Given the description of an element on the screen output the (x, y) to click on. 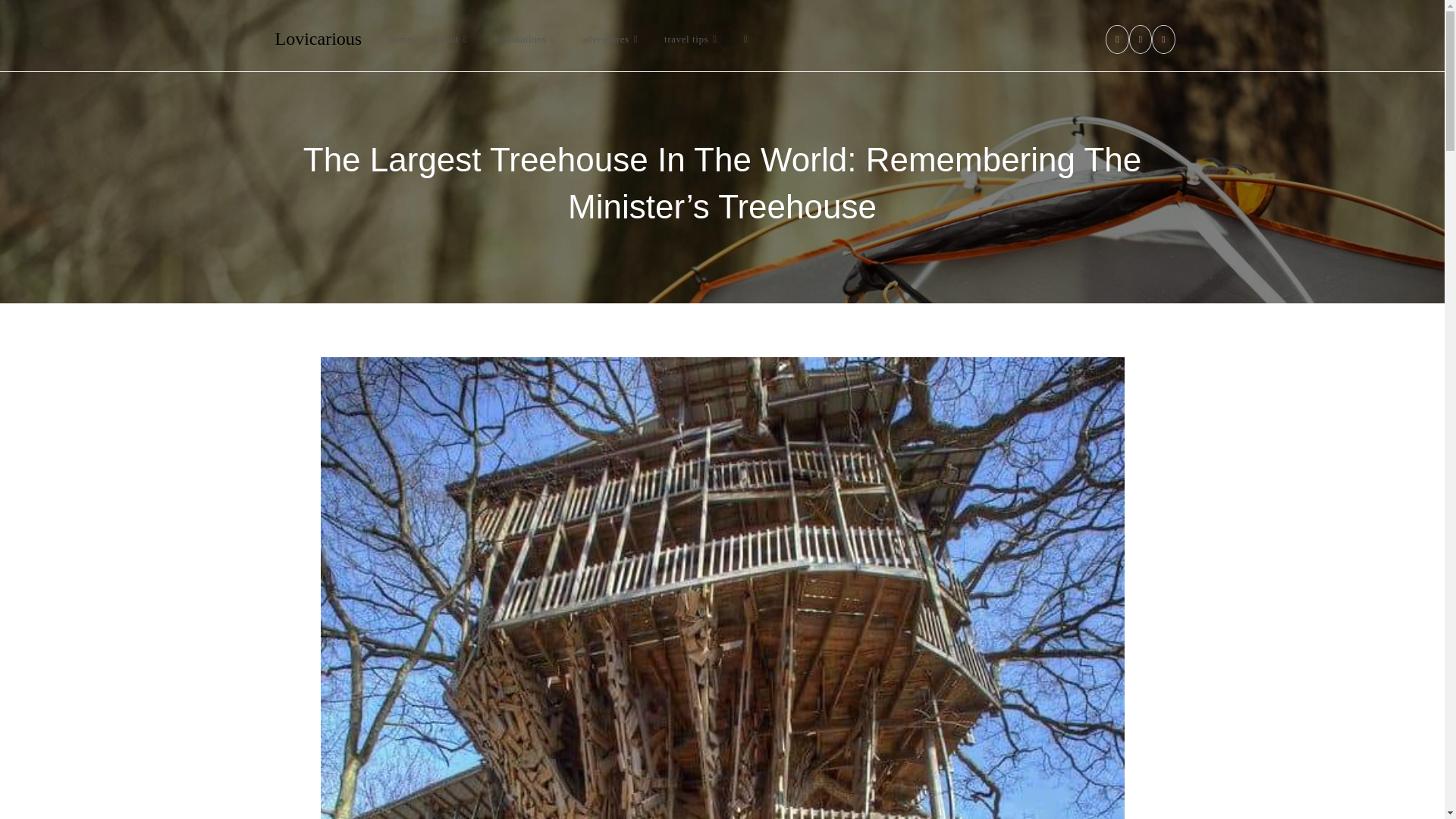
Lovicarious (318, 38)
adventures (611, 39)
travel tips (692, 39)
about (452, 39)
destinations (526, 39)
